Given the description of an element on the screen output the (x, y) to click on. 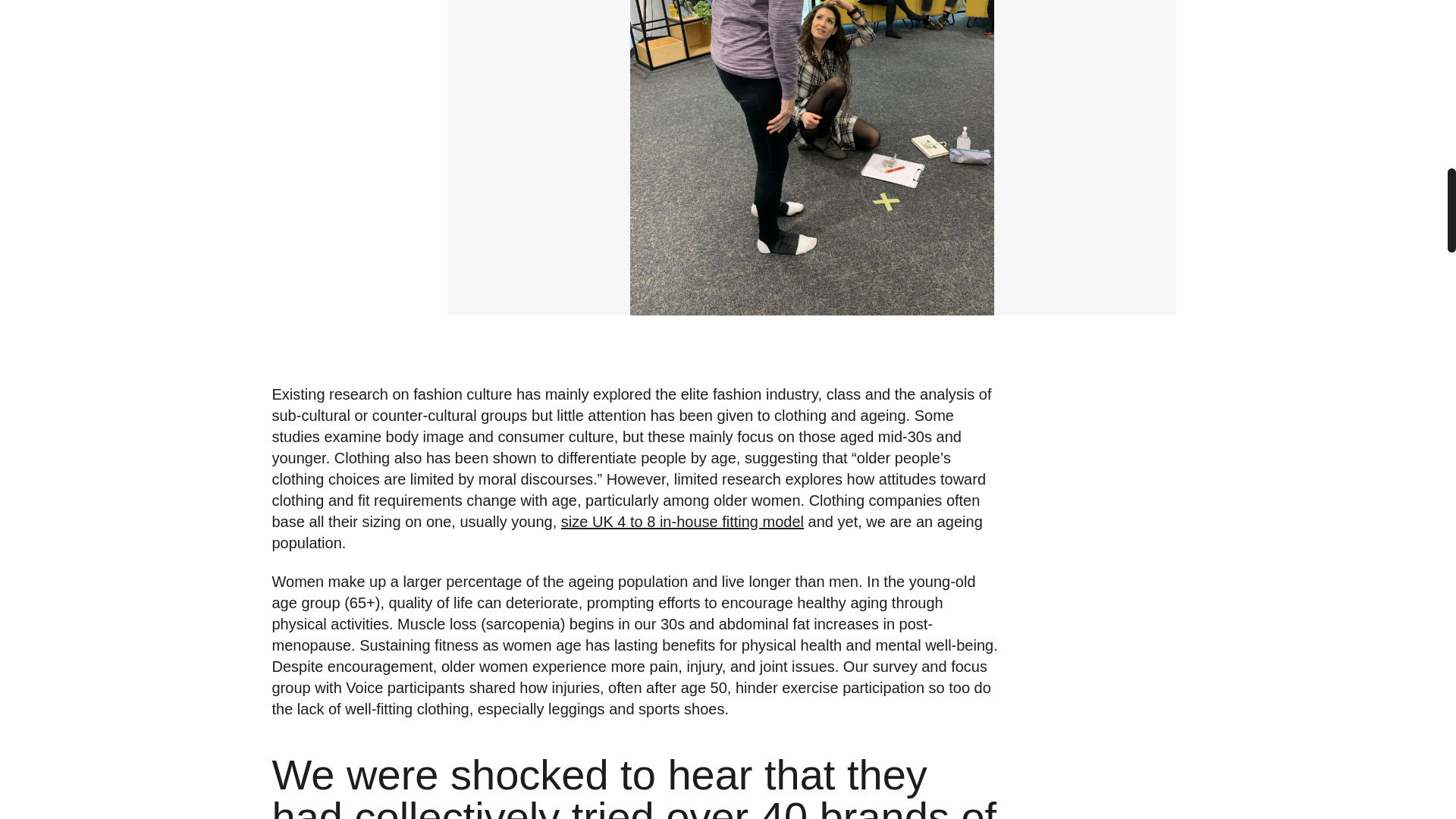
size UK 4 to 8 in-house fitting model (681, 521)
